Given the description of an element on the screen output the (x, y) to click on. 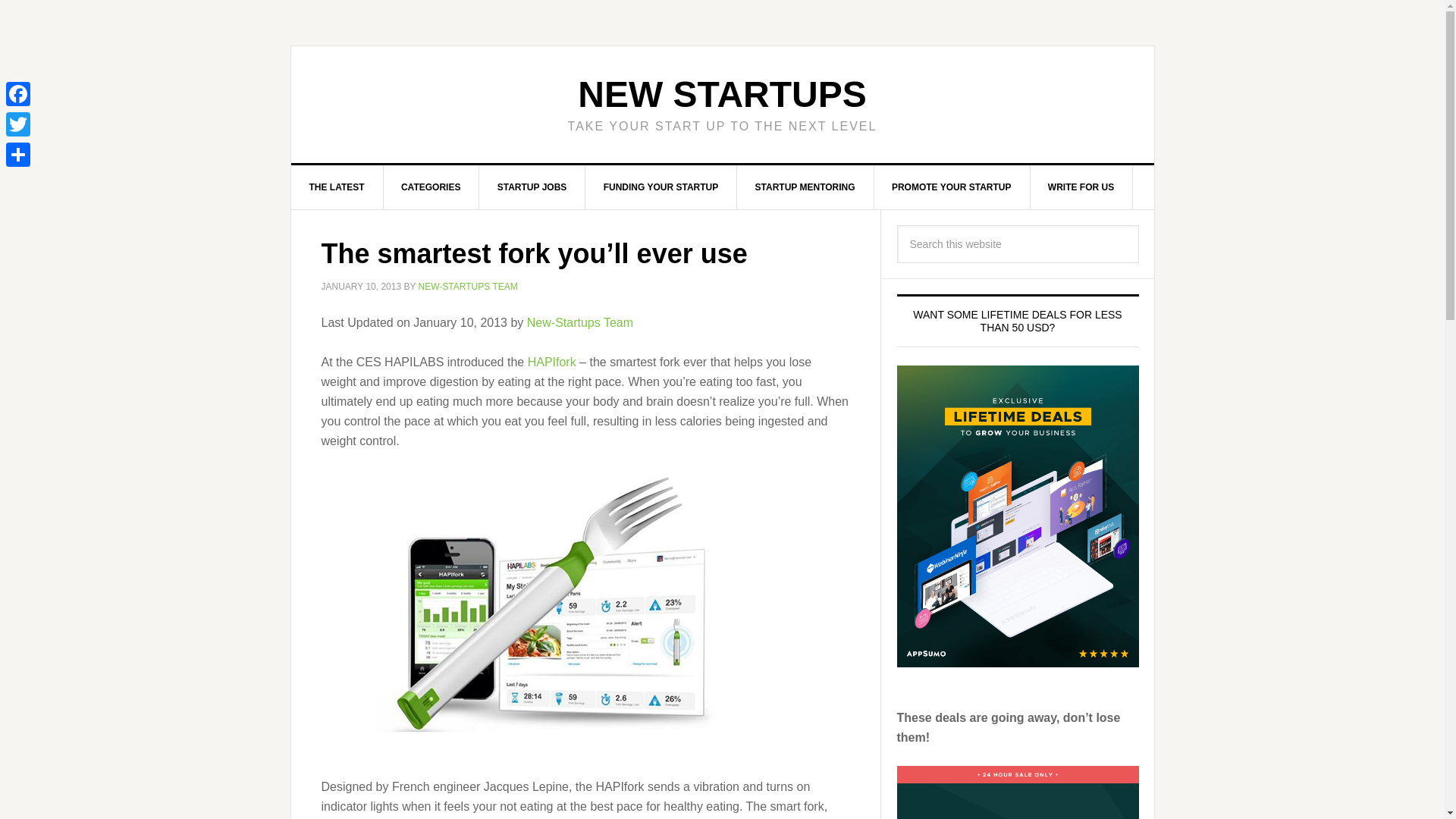
STARTUP JOBS (532, 187)
CATEGORIES (430, 187)
Twitter (17, 123)
WRITE FOR US (1080, 187)
NEW STARTUPS (722, 94)
PROMOTE YOUR STARTUP (951, 187)
FUNDING YOUR STARTUP (661, 187)
New-Startups Team (580, 321)
Facebook (17, 93)
THE LATEST (337, 187)
NEW-STARTUPS TEAM (468, 286)
STARTUP MENTORING (805, 187)
